Given the description of an element on the screen output the (x, y) to click on. 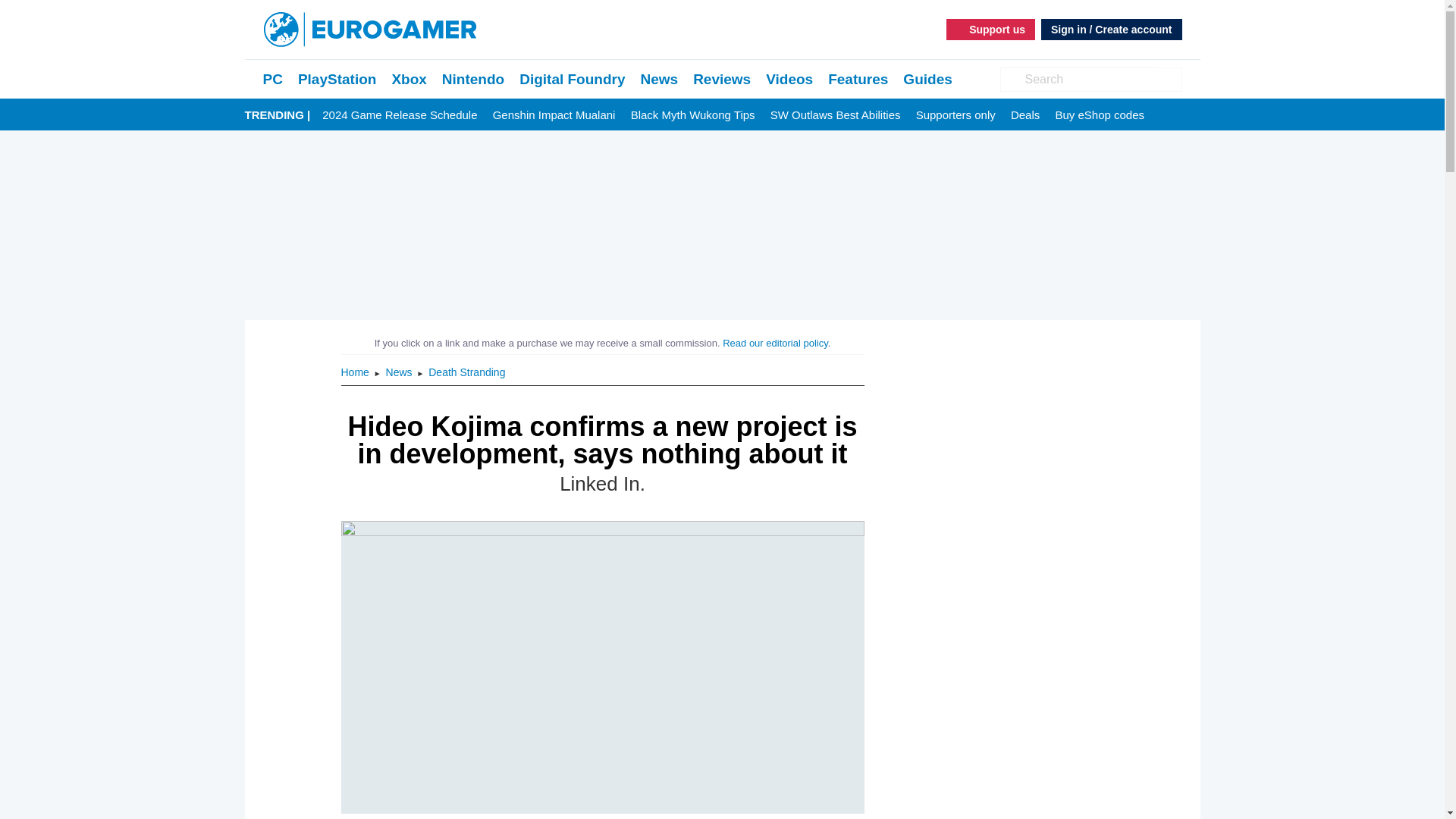
Black Myth Wukong Tips (692, 114)
Home (356, 372)
Reviews (722, 78)
Videos (788, 78)
Digital Foundry (571, 78)
Black Myth Wukong Tips (692, 114)
Deals (1024, 114)
2024 Game Release Schedule (399, 114)
Xbox (408, 78)
Digital Foundry (571, 78)
